Given the description of an element on the screen output the (x, y) to click on. 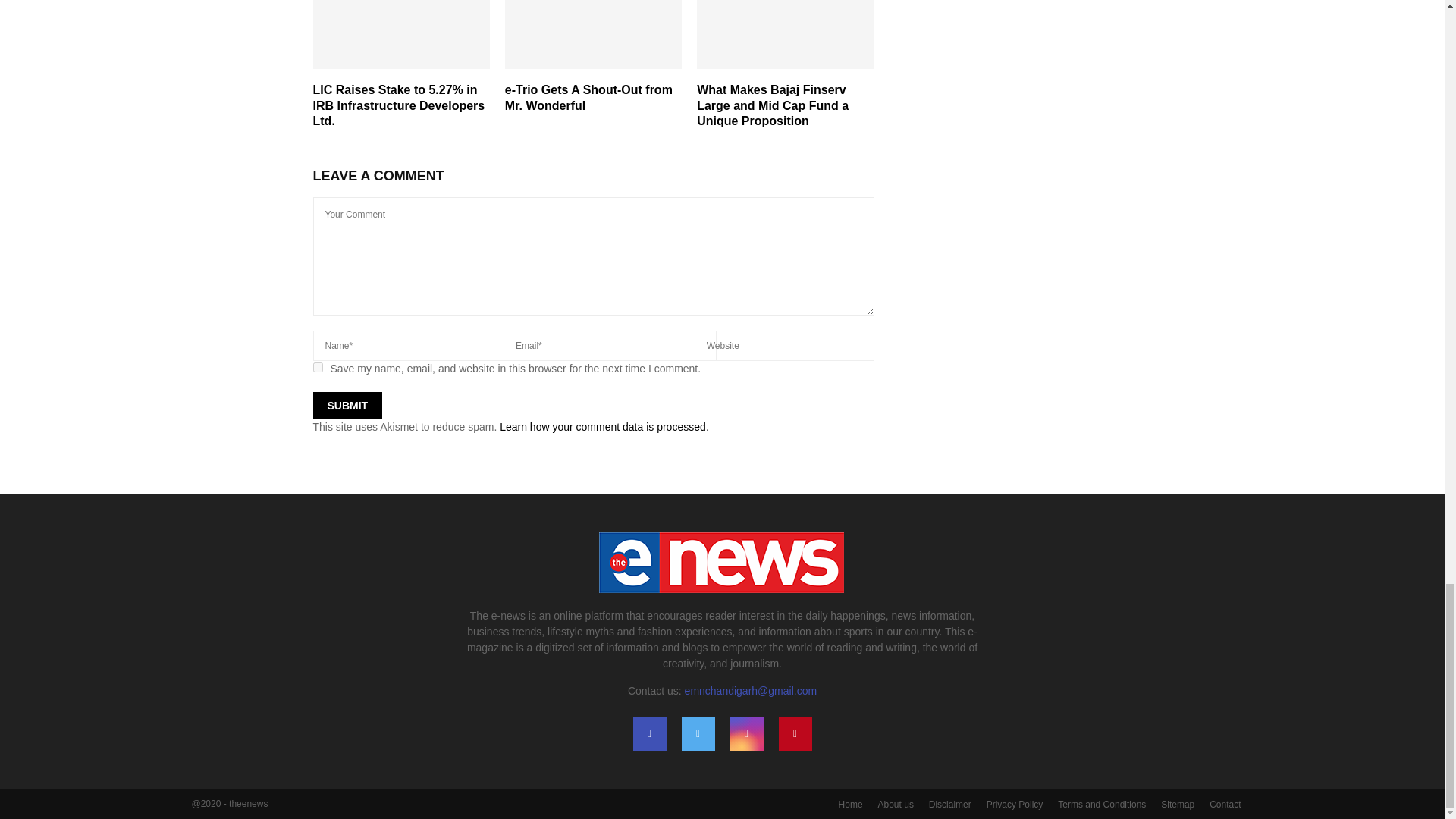
yes (317, 367)
Submit (347, 405)
